Given the description of an element on the screen output the (x, y) to click on. 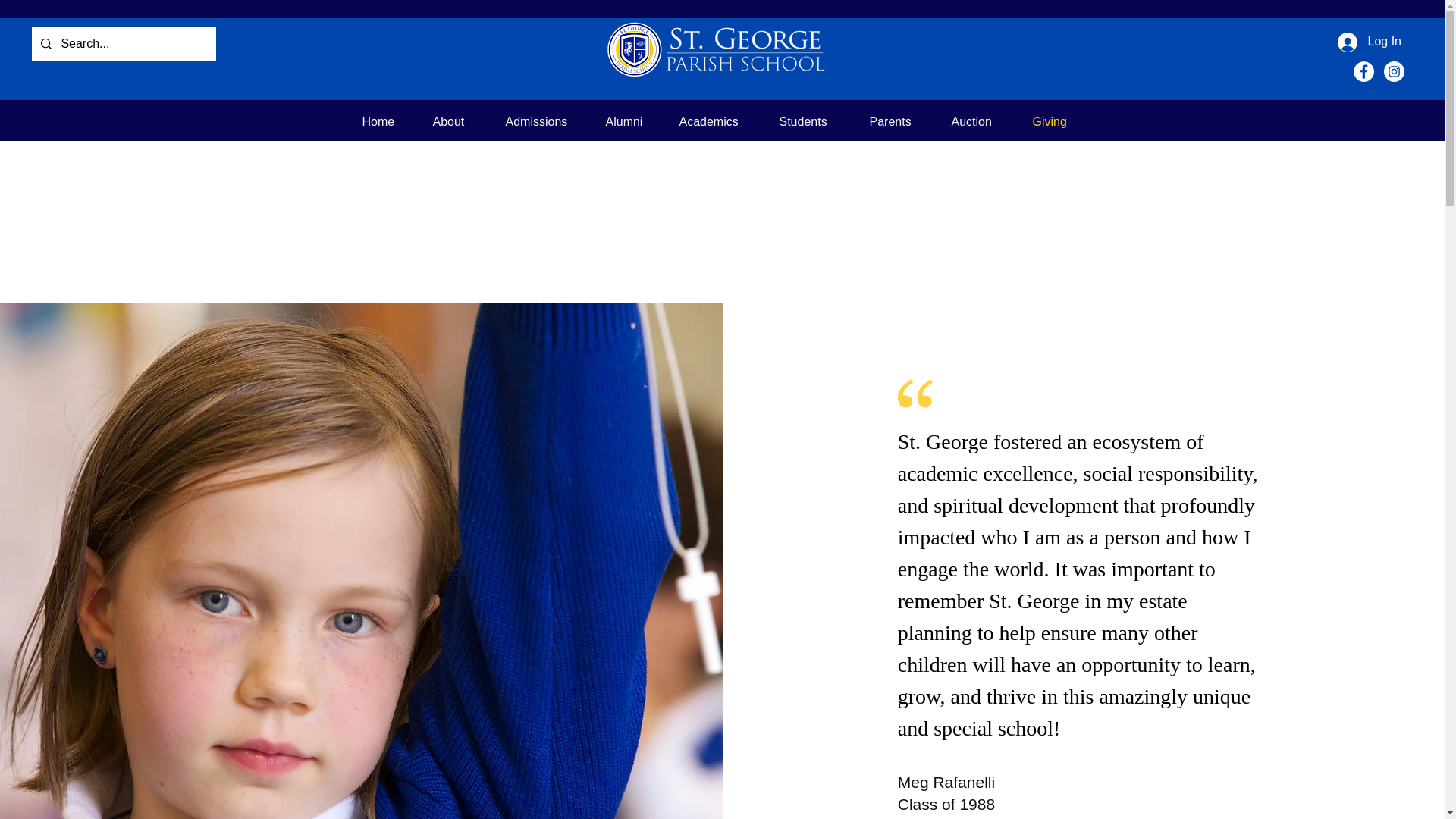
Academics (716, 121)
Log In (1369, 41)
Parents (899, 121)
Giving (1056, 121)
Students (812, 121)
Admissions (544, 121)
Alumni (631, 121)
Auction (981, 121)
About (458, 121)
Home (385, 121)
